Given the description of an element on the screen output the (x, y) to click on. 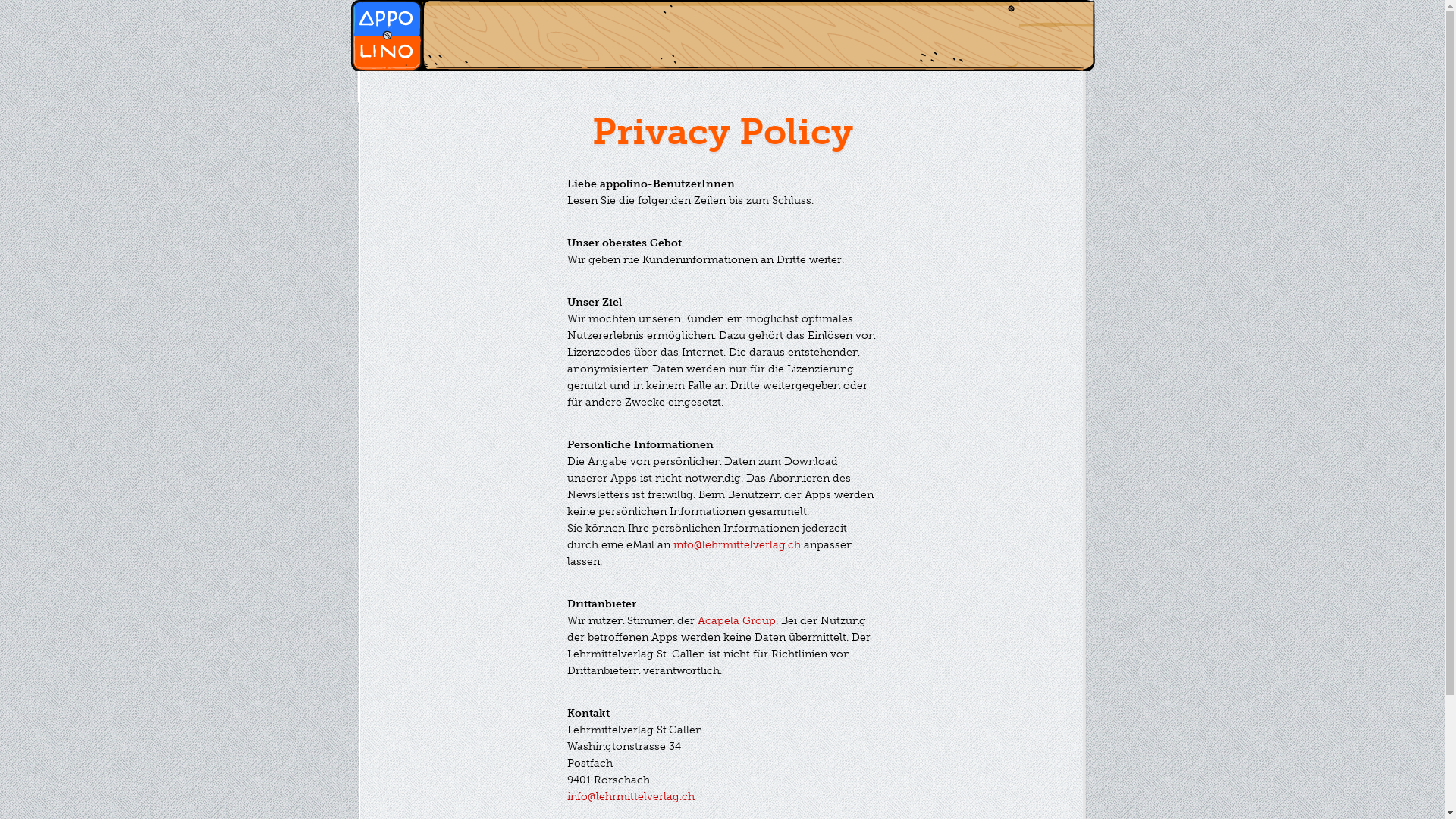
info@lehrmittelverlag.ch Element type: text (630, 796)
Acapela Group Element type: text (736, 620)
info@lehrmittelverlag.ch Element type: text (736, 544)
